Given the description of an element on the screen output the (x, y) to click on. 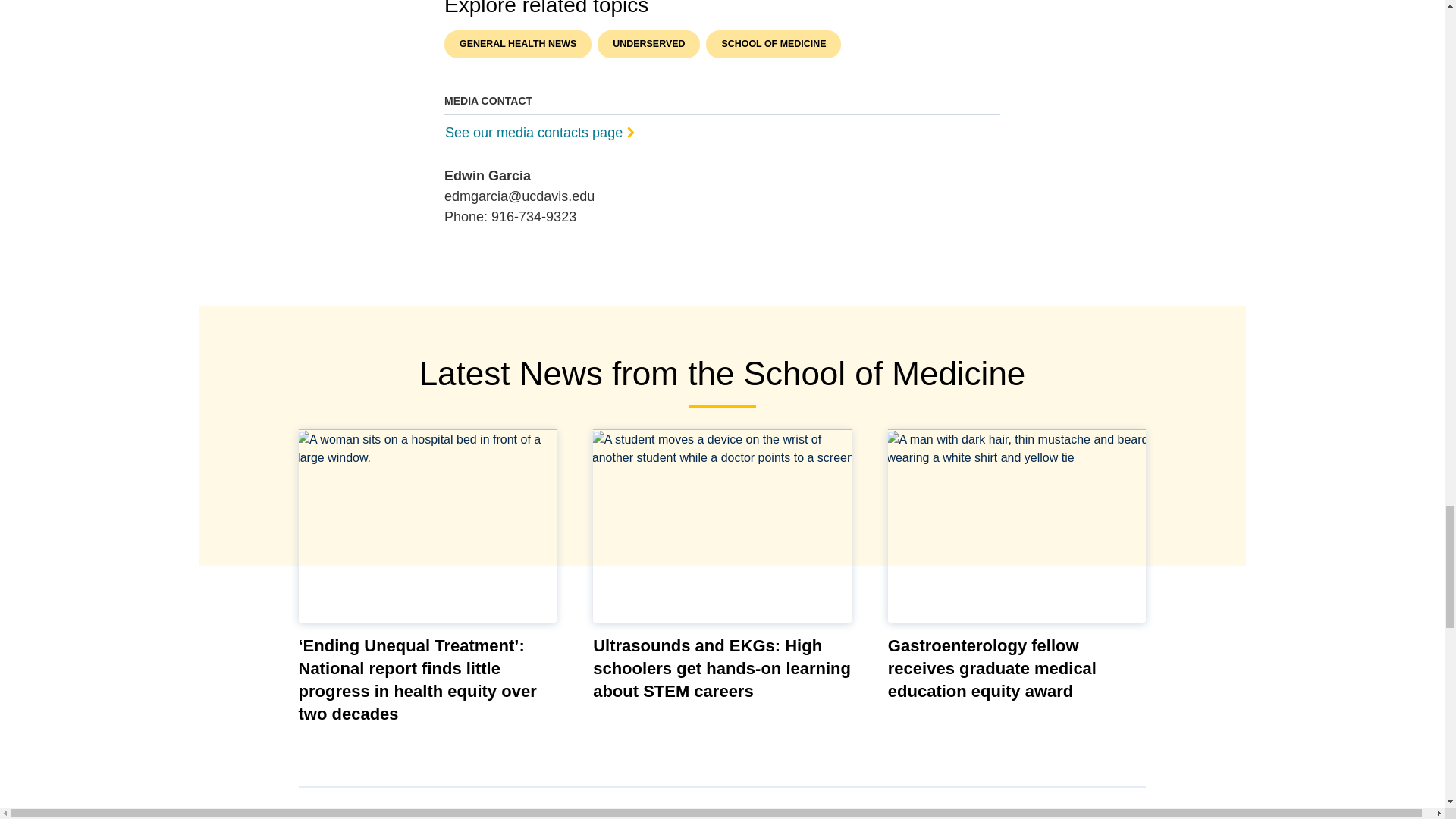
go to article (721, 525)
go to article (1017, 525)
go to article (427, 525)
News Contacts (719, 131)
Cover of UC Davis Health magazine, copyright UC Regents (448, 815)
